Given the description of an element on the screen output the (x, y) to click on. 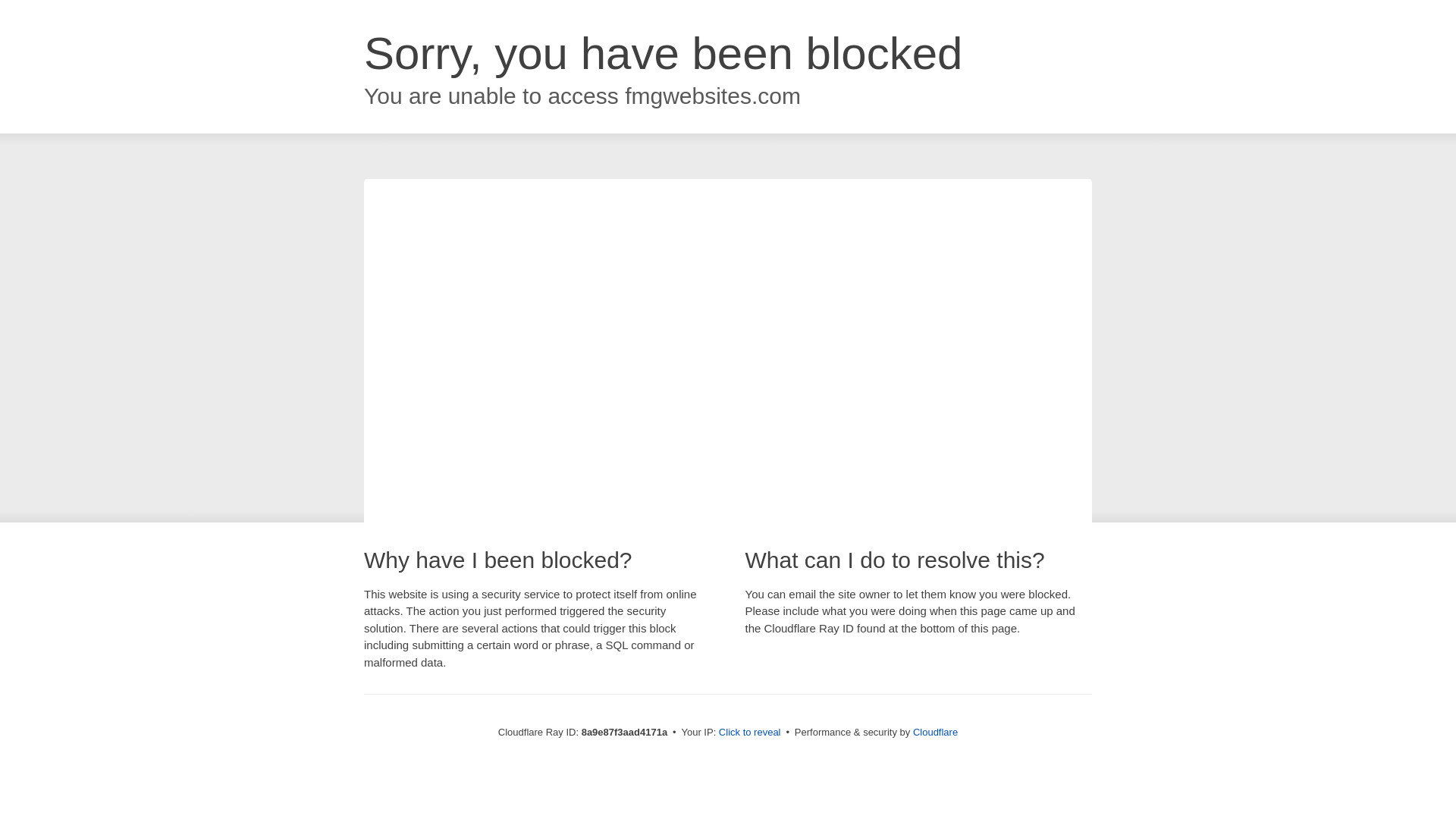
Cloudflare (935, 731)
Click to reveal (749, 732)
